Given the description of an element on the screen output the (x, y) to click on. 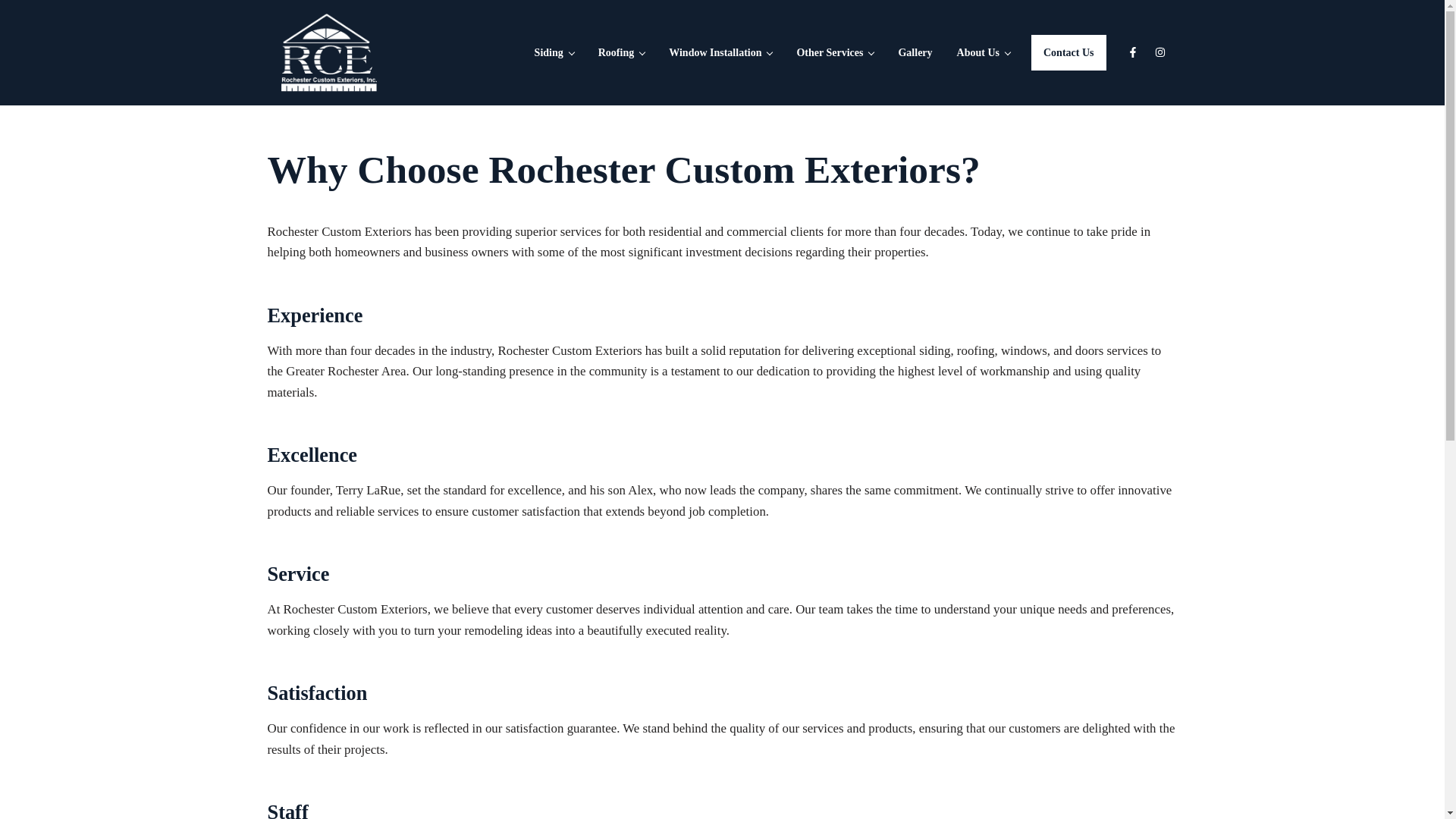
Siding (554, 52)
Gallery (914, 52)
Submit (40, 512)
About Us (983, 52)
Contact Us (1068, 52)
Window Installation (720, 52)
Other Services (834, 52)
Roofing (621, 52)
